Given the description of an element on the screen output the (x, y) to click on. 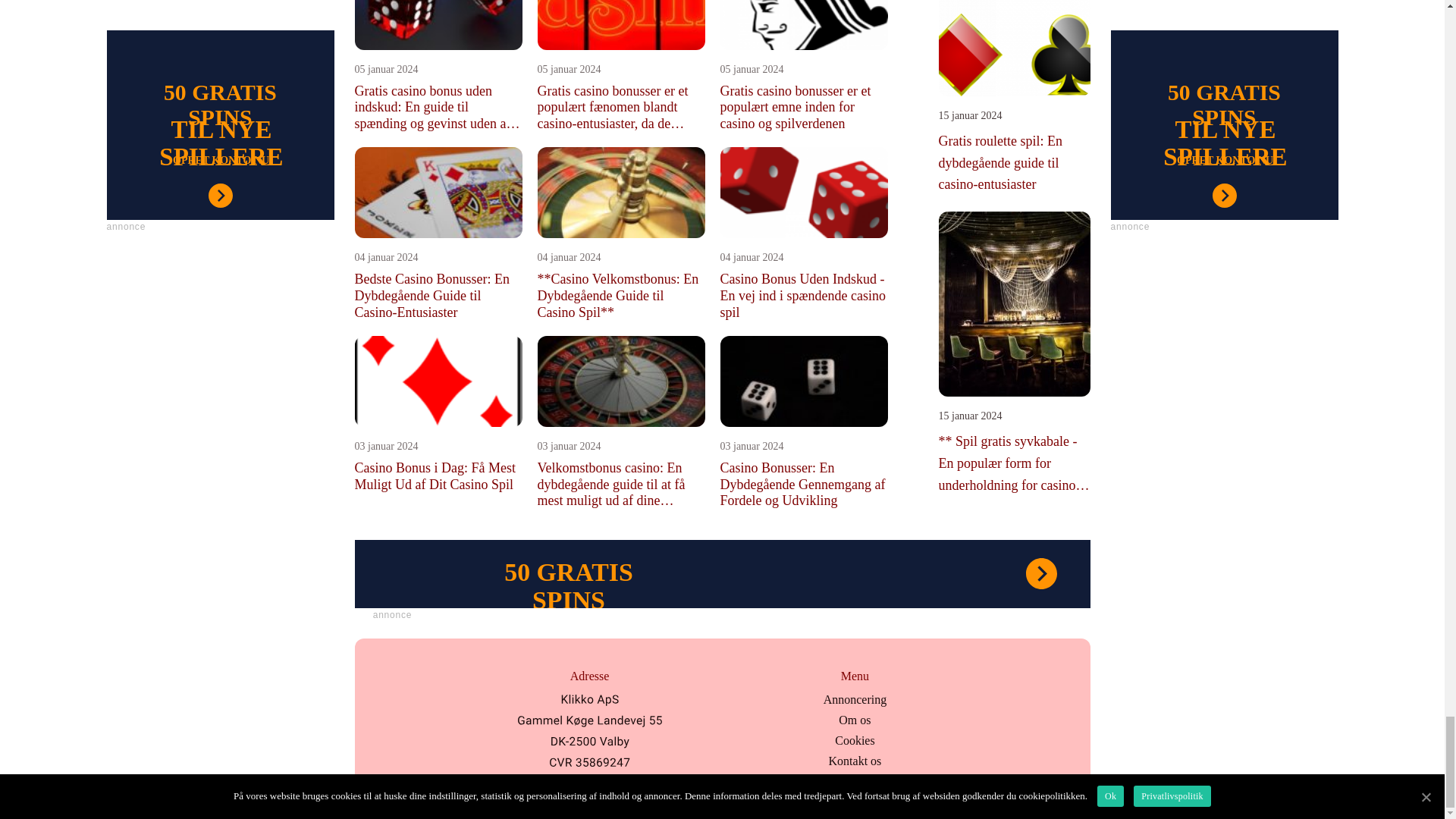
Click me! (722, 573)
Click me! (392, 615)
